Given the description of an element on the screen output the (x, y) to click on. 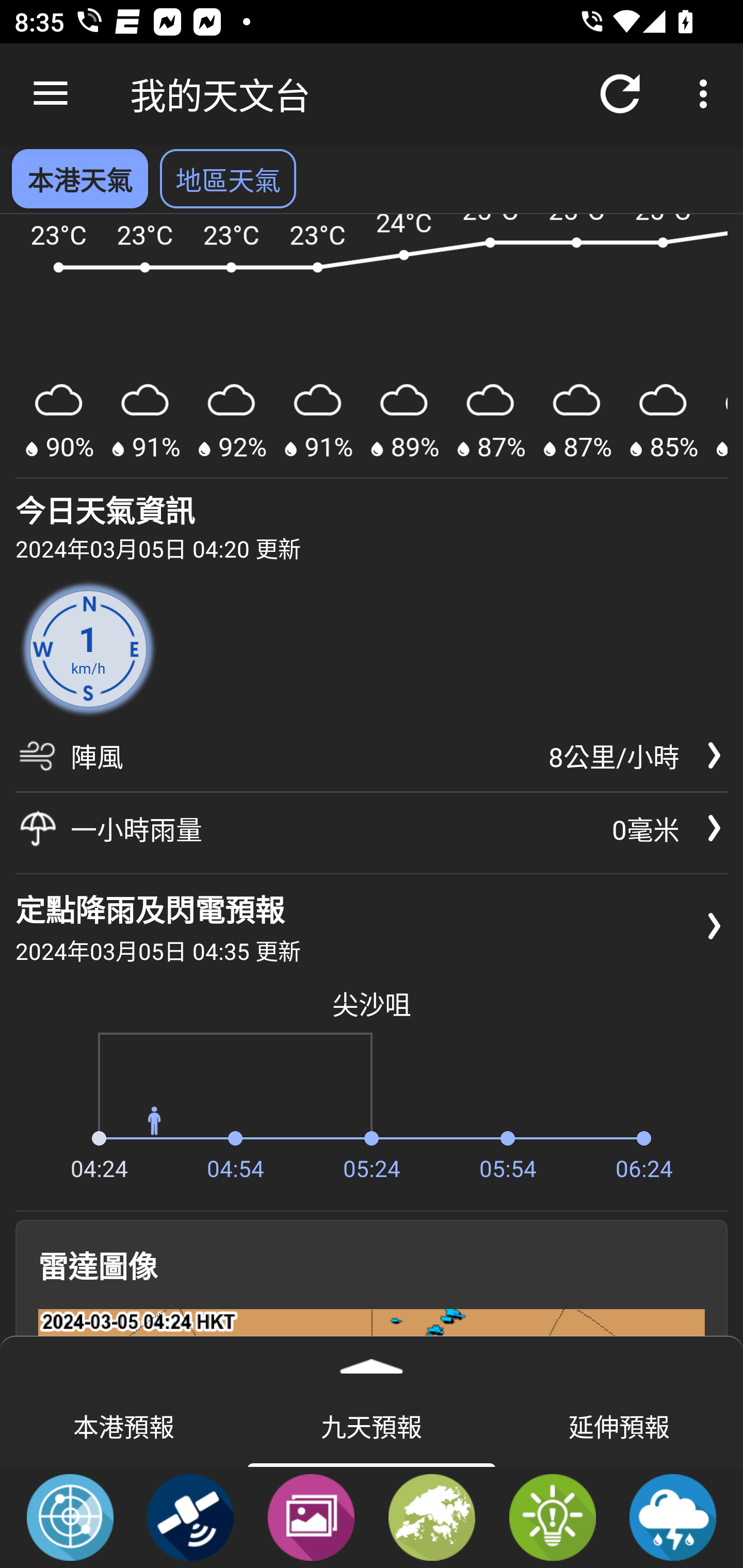
向上瀏覽 (50, 93)
重新整理 (619, 93)
更多選項 (706, 93)
本港天氣 已選擇 本港天氣 (79, 178)
地區天氣 選擇 地區天氣 (227, 178)
九天自動天氣預報 圖片
輕按進入內頁，即可了解詳細資料。 ARWF (371, 346)
風向不定
風速每小時1公里 1 km/h (88, 648)
陣風 8公里/小時 陣風 8公里/小時 (371, 762)
一小時雨量 0毫米 一小時雨量 0毫米 (371, 828)
展開 (371, 1358)
本港預報 (123, 1424)
延伸預報 (619, 1424)
雷達圖像 (69, 1516)
衛星圖像 (190, 1516)
天氣照片 (310, 1516)
分區天氣 (431, 1516)
天氣提示 (551, 1516)
定點降雨及閃電預報 (672, 1516)
